Given the description of an element on the screen output the (x, y) to click on. 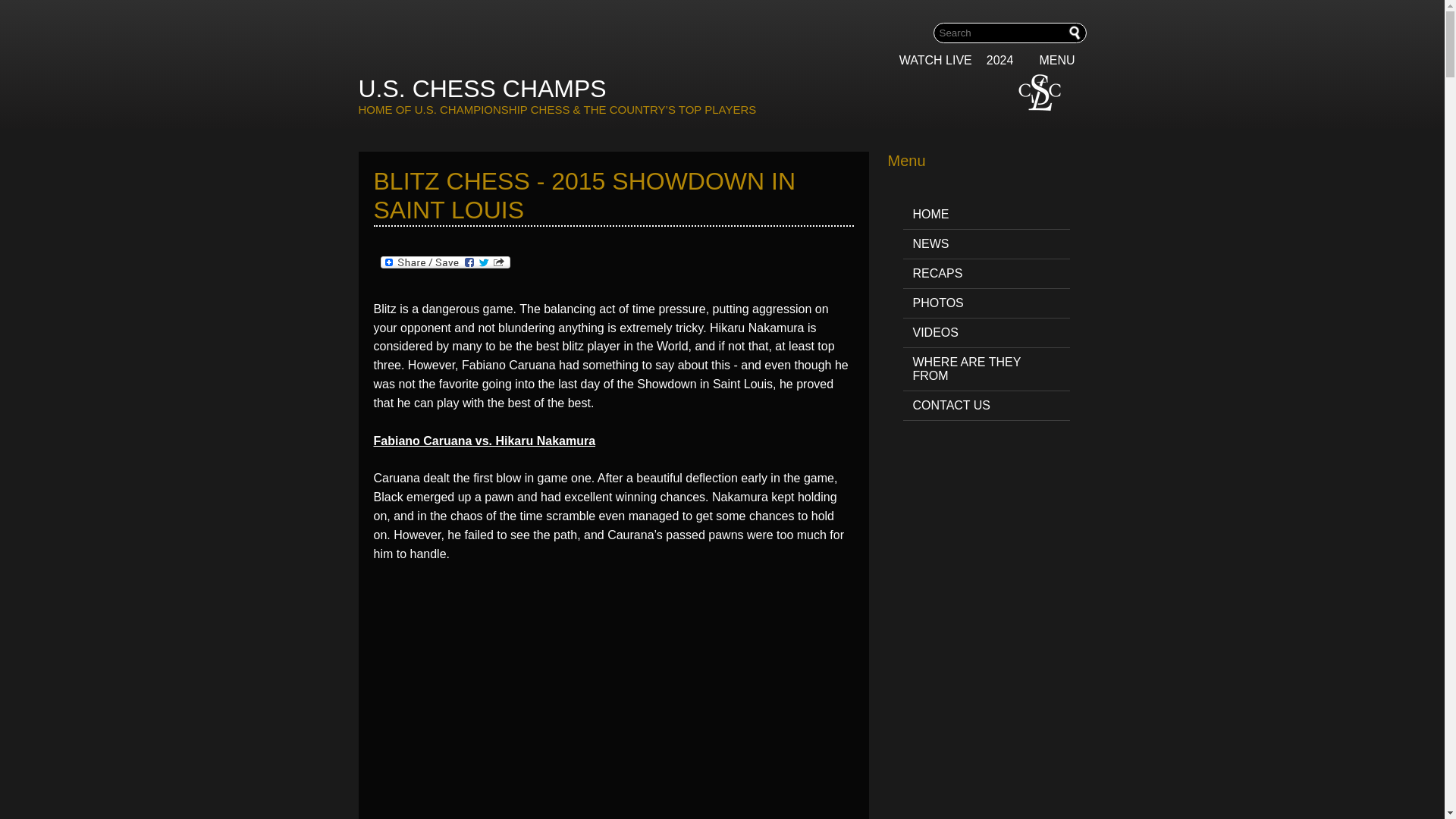
MENU (1062, 60)
Home (481, 88)
RECAPS (985, 274)
NEWS (985, 244)
CONTACT US (985, 405)
HOME (985, 214)
U.S. CHESS CHAMPS (481, 88)
PHOTOS (985, 303)
VIDEOS (985, 333)
